Given the description of an element on the screen output the (x, y) to click on. 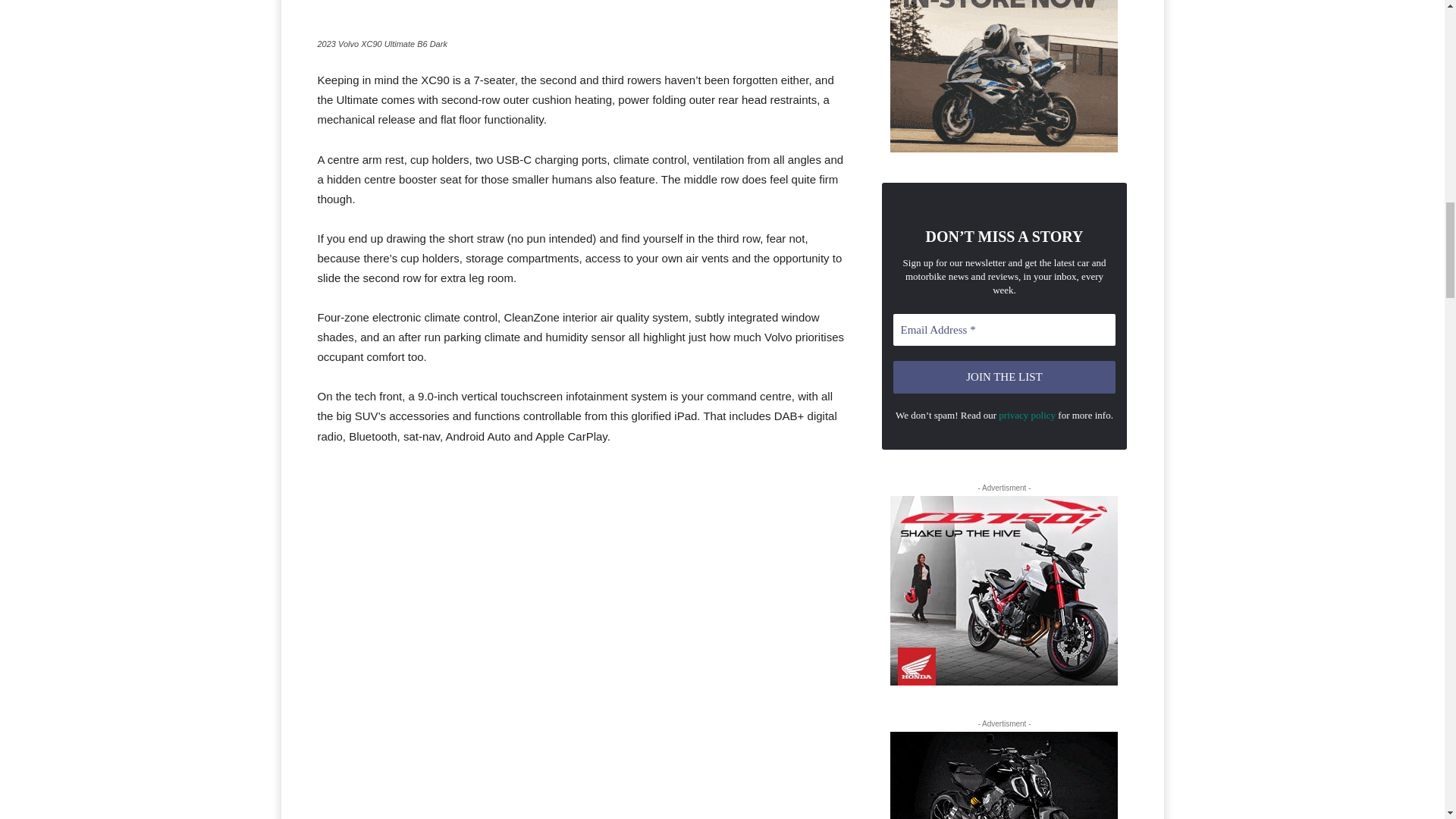
JOIN THE LIST (1004, 377)
